Given the description of an element on the screen output the (x, y) to click on. 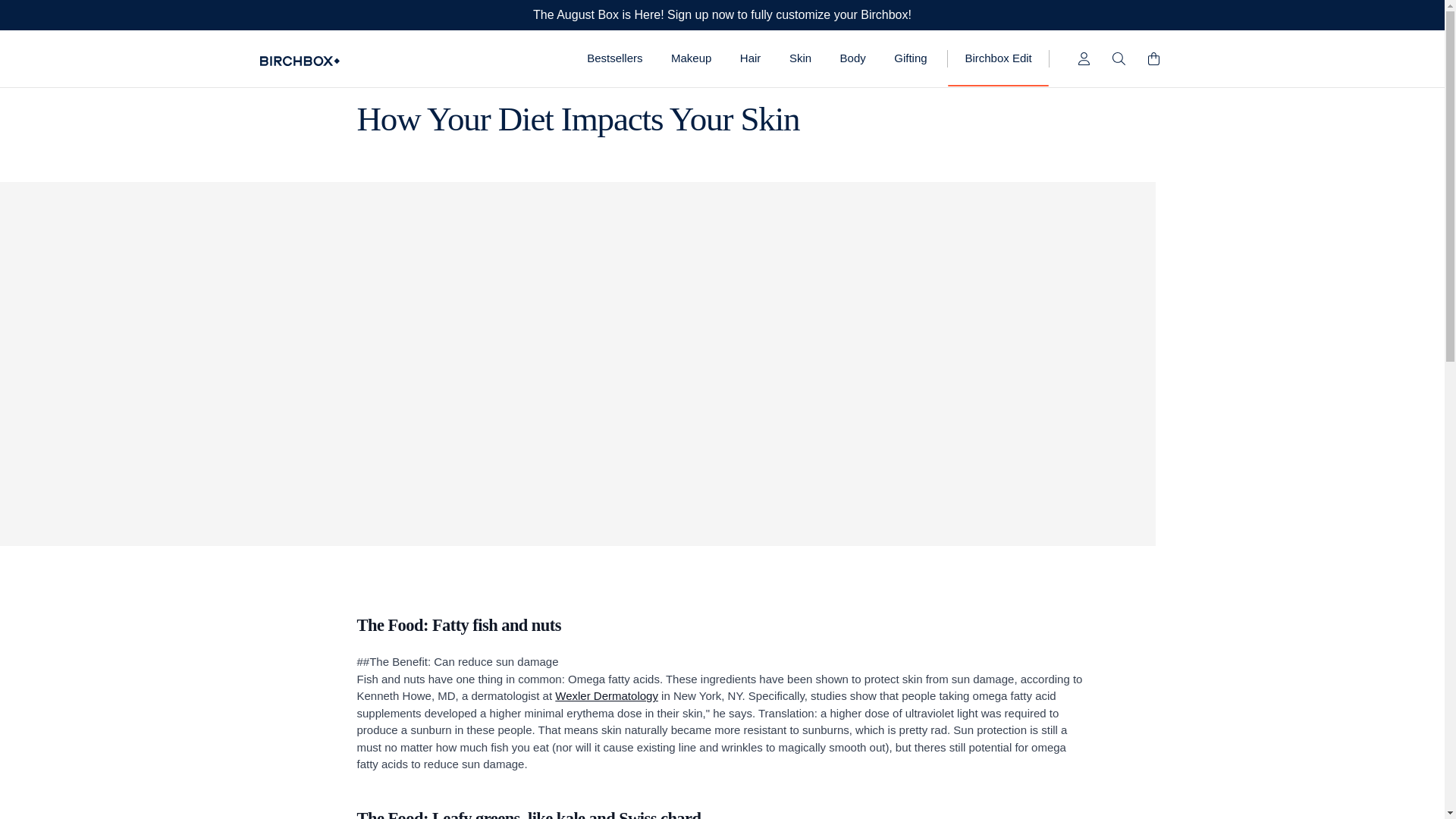
Gifting (911, 58)
Makeup (690, 58)
Wexler Dermatology (606, 695)
Food (368, 75)
Skin (799, 58)
Birchbox Edit (997, 57)
Bestsellers (614, 58)
Body (852, 58)
